Given the description of an element on the screen output the (x, y) to click on. 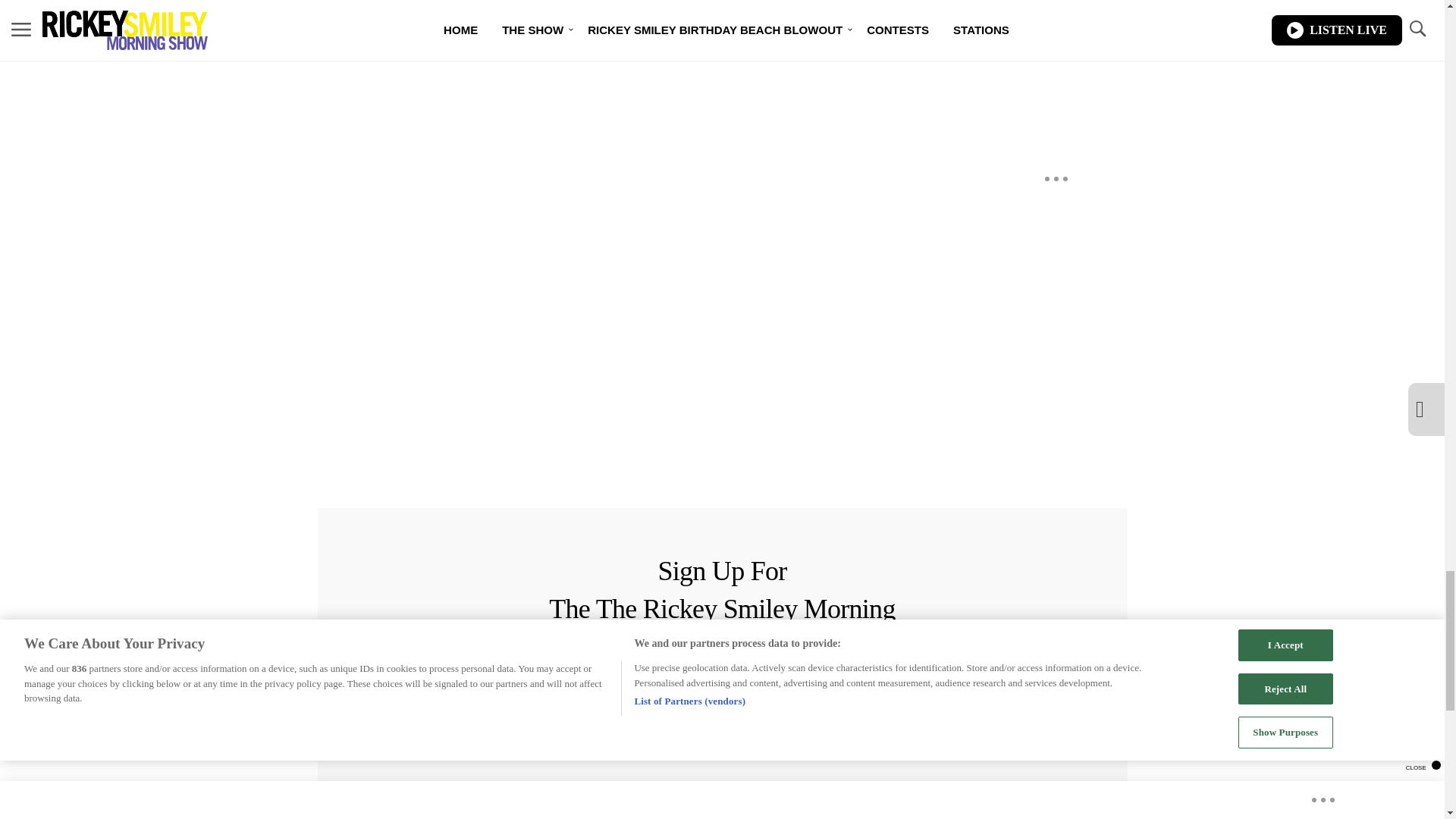
Vuukle Comments Widget (585, 92)
